Given the description of an element on the screen output the (x, y) to click on. 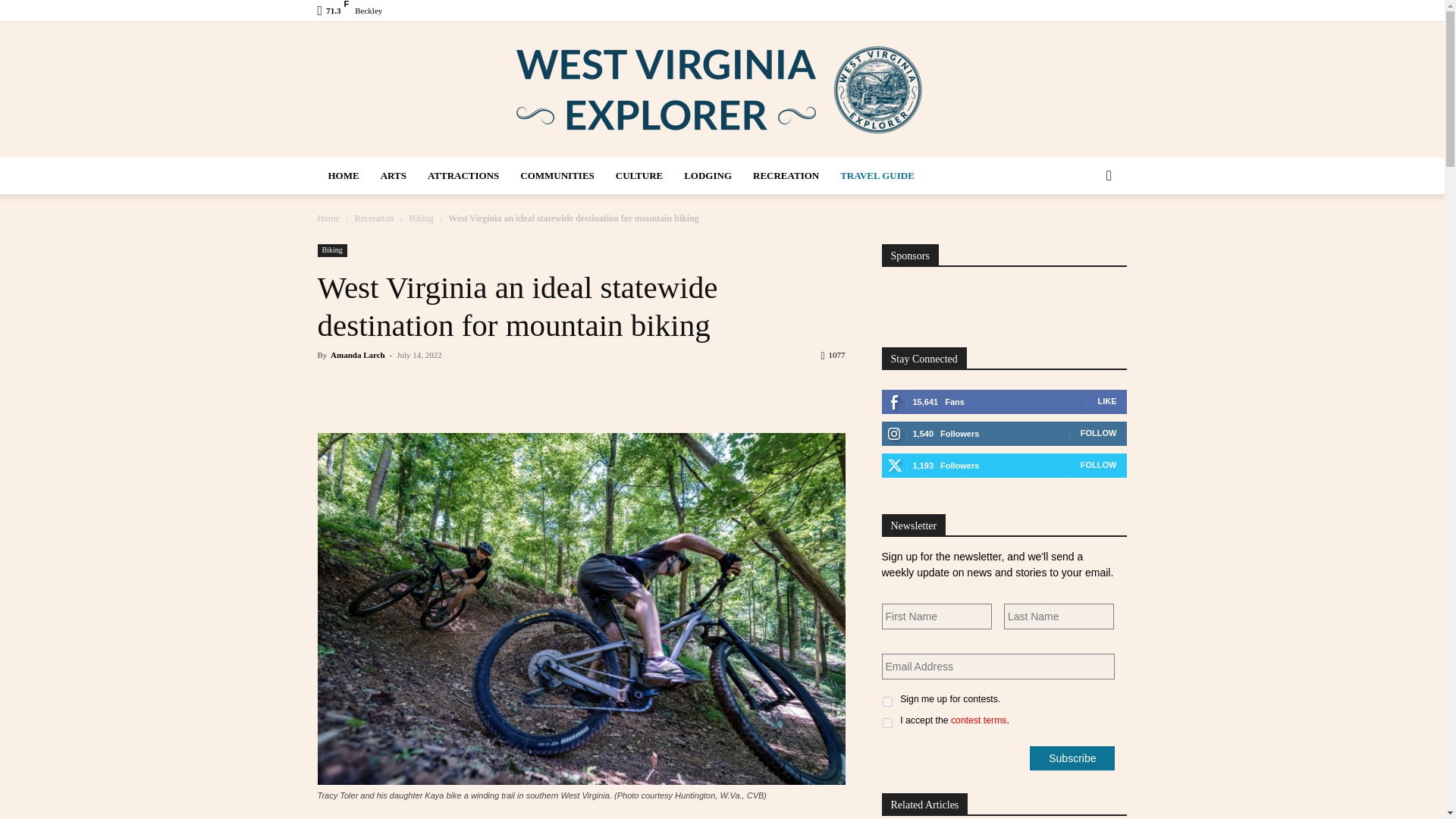
Subscribe (1072, 758)
Sign me up for contests. (887, 701)
I accept the contest terms. (887, 723)
